Given the description of an element on the screen output the (x, y) to click on. 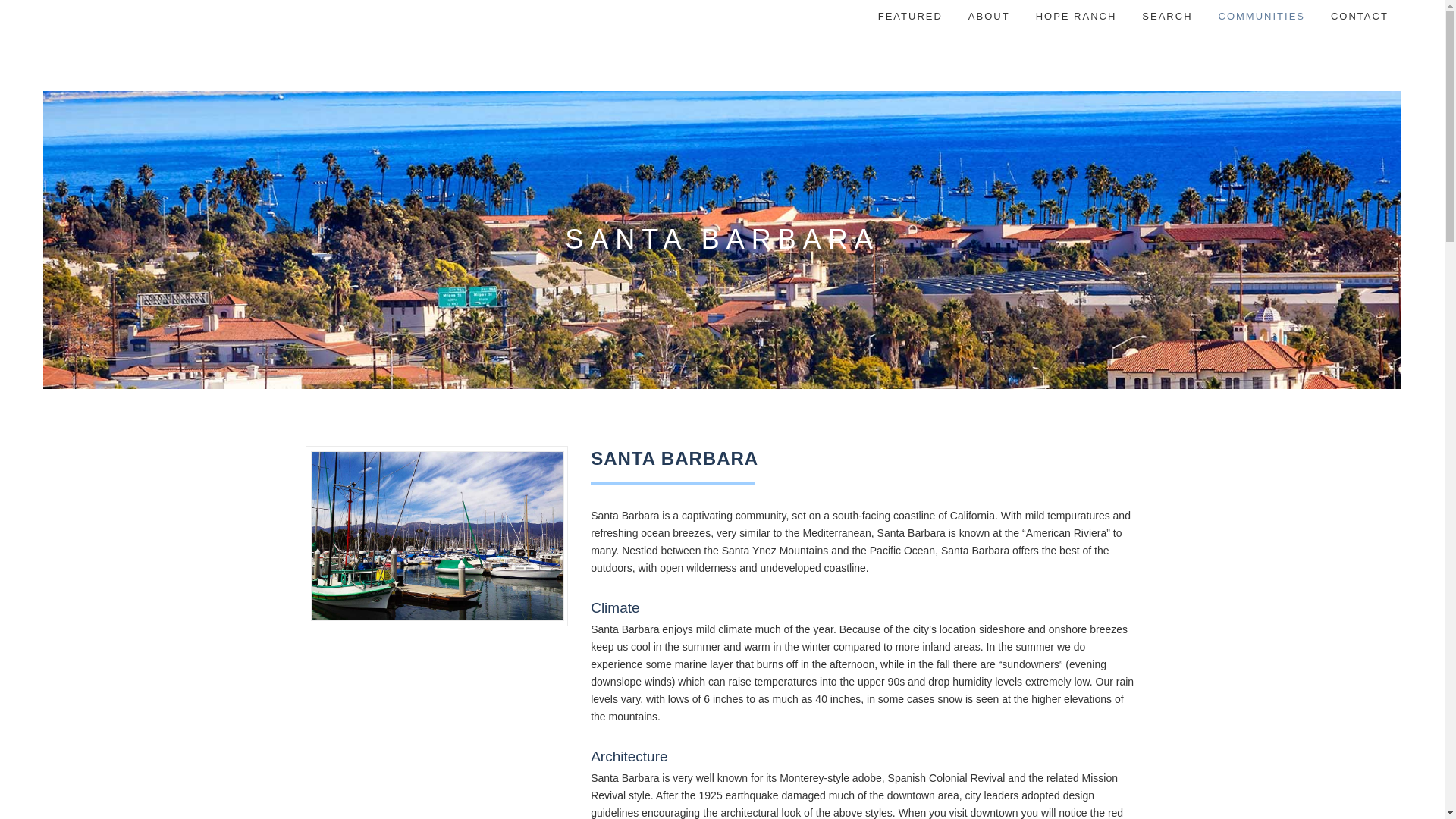
CONTACT (1358, 16)
COMMUNITIES (1261, 16)
HOPE RANCH (1076, 16)
ABOUT (989, 16)
About (989, 16)
Hope Ranch (1076, 16)
FEATURED (909, 16)
SEARCH (1167, 16)
Communities (1261, 16)
